Given the description of an element on the screen output the (x, y) to click on. 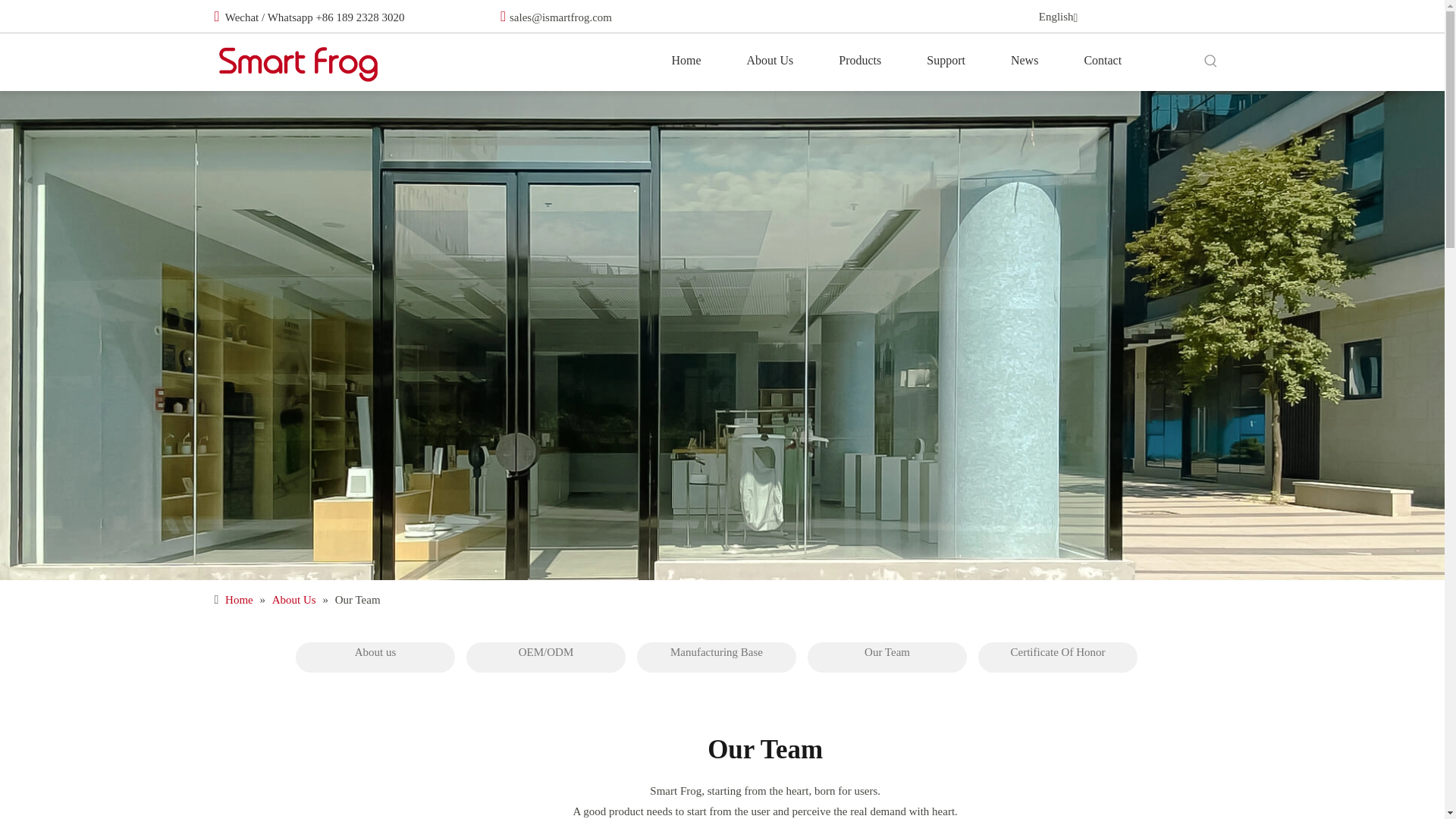
Support (946, 59)
About Us (769, 59)
Linkedin (1152, 17)
Manufacturing Base (716, 657)
Our Team (887, 657)
Products (859, 59)
Certificate Of Honor (1057, 657)
Contact (1102, 59)
About us (374, 657)
Home (685, 59)
News (1024, 59)
Facebook (1183, 17)
